Given the description of an element on the screen output the (x, y) to click on. 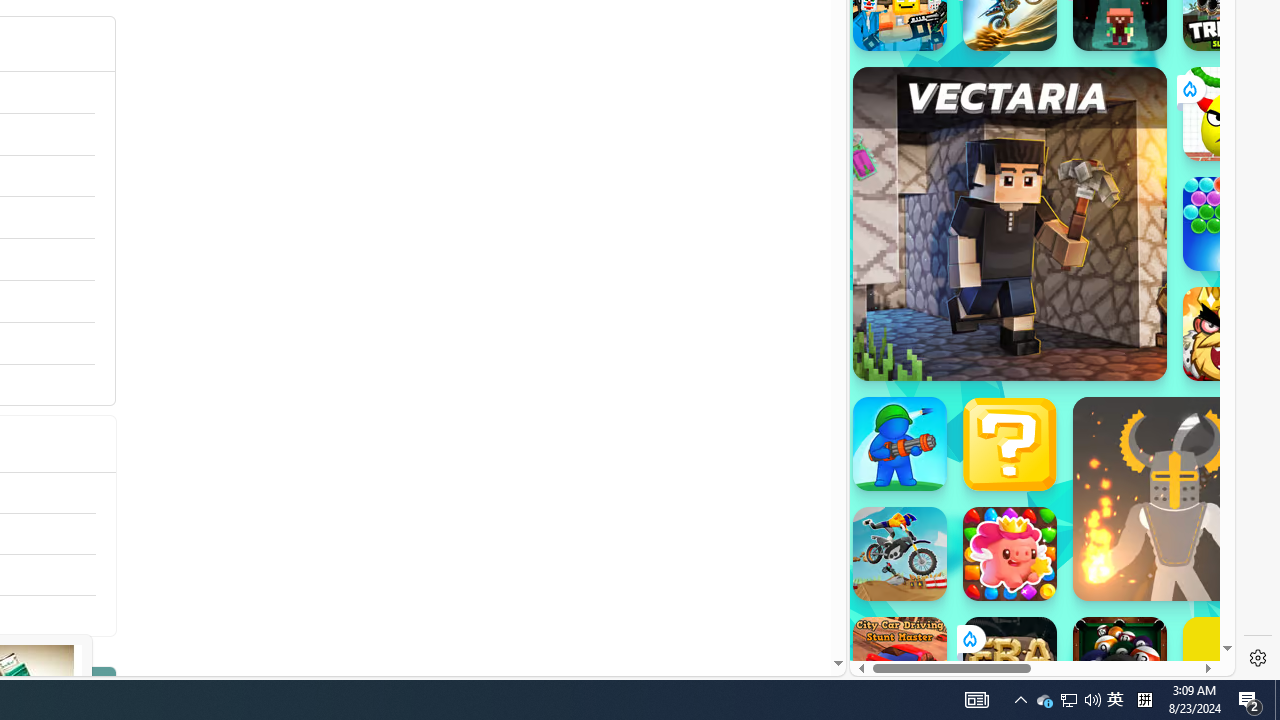
SUBWAY SURFERS - Play Online for Free! | Poki (1034, 624)
Bubble Shooter (1229, 223)
Draw To Smash: Logic Puzzle Draw To Smash: Logic Puzzle (1229, 113)
Combat Reloaded Combat Reloaded poki.com (1092, 245)
Match Arena Match Arena (1009, 553)
Mystery Tile (1009, 443)
Hills of Steel (925, 290)
Click to scroll right (1196, 247)
Crazy Cars (1217, 290)
Era: Evolution Era: Evolution (1009, 664)
Bubble Shooter Bubble Shooter (1229, 223)
8 Ball Pool With Buddies (1119, 664)
Combat Reloaded (1092, 200)
